Given the description of an element on the screen output the (x, y) to click on. 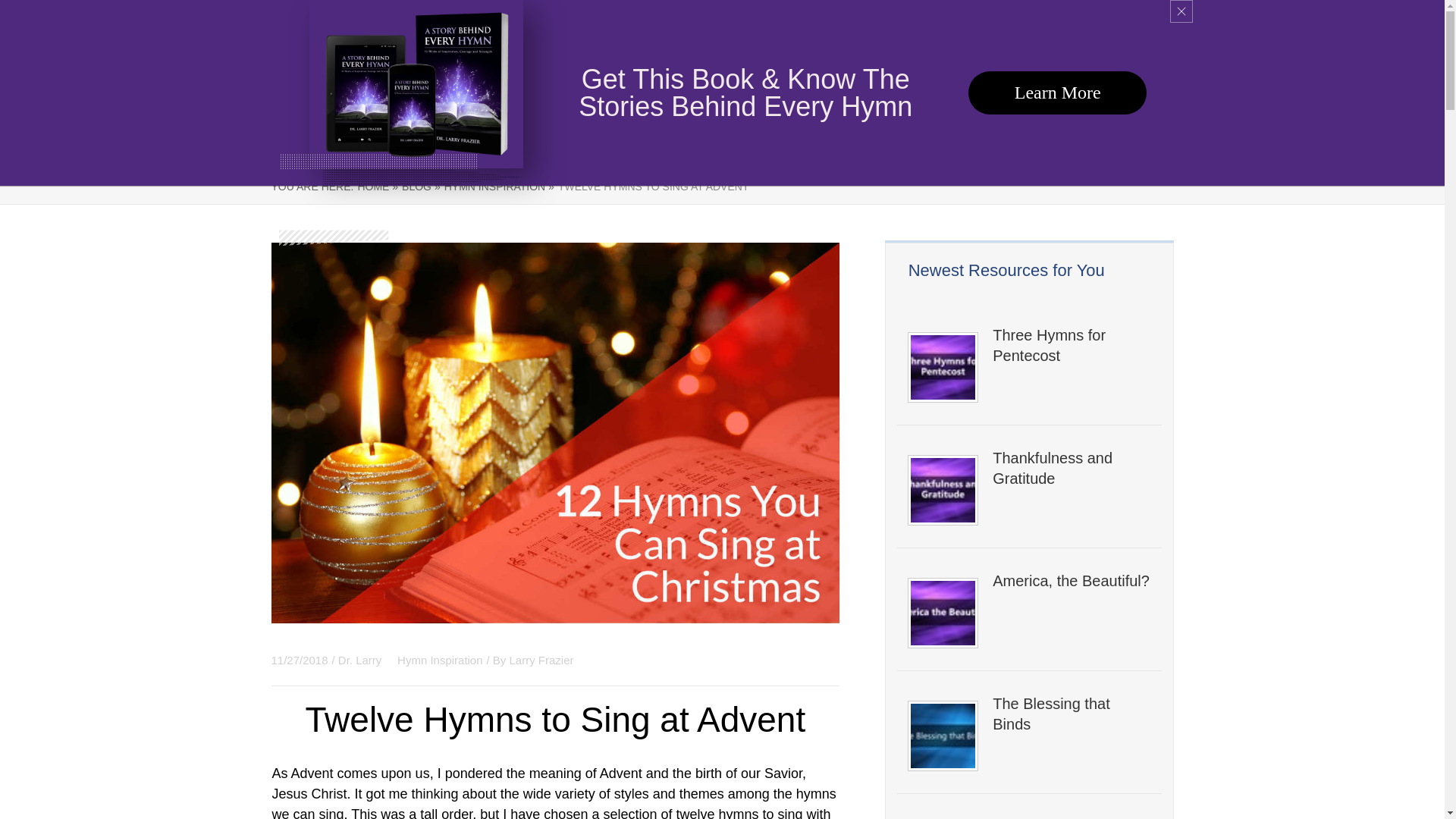
Thankfulness and Gratitude (1071, 467)
Dr. Larry (361, 659)
Three Hymns for Pentecost (1071, 345)
LYRICS (698, 146)
HYMN OF THE WEEK (796, 146)
America, the Beautiful? (1071, 580)
ABOUT DR. LARRY (1056, 146)
The Blessing that Binds (1071, 713)
INSPIRING STORIES (929, 146)
Contemporary and Traditional (1071, 817)
BOOK (636, 146)
Larry Frazier (541, 659)
BLOG (1146, 146)
Hymn Inspiration (439, 659)
